Given the description of an element on the screen output the (x, y) to click on. 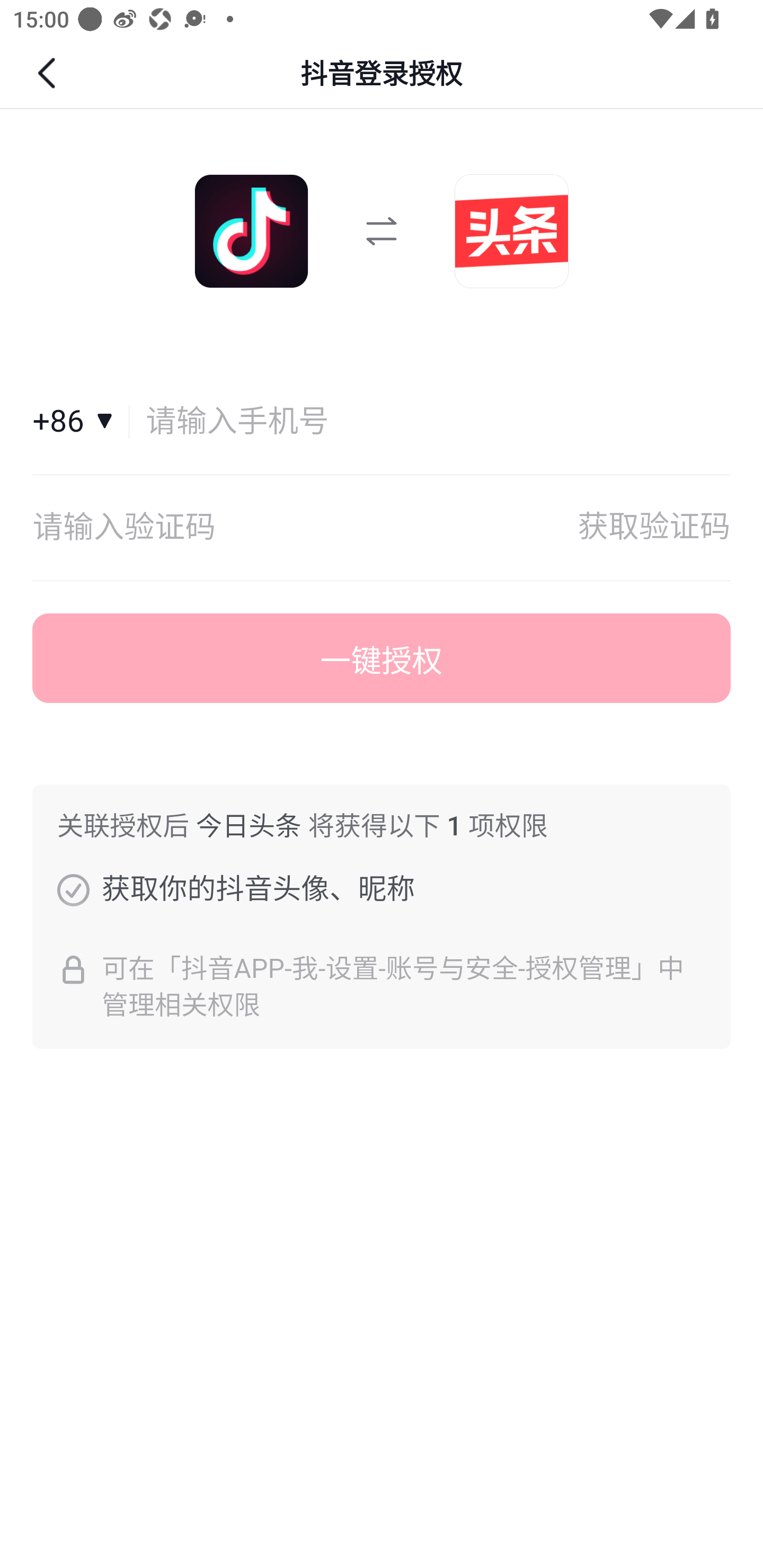
返回 (49, 72)
国家和地区+86 (81, 421)
获取验证码 (653, 527)
一键授权 (381, 658)
获取你的抖音头像、昵称 (72, 889)
